Given the description of an element on the screen output the (x, y) to click on. 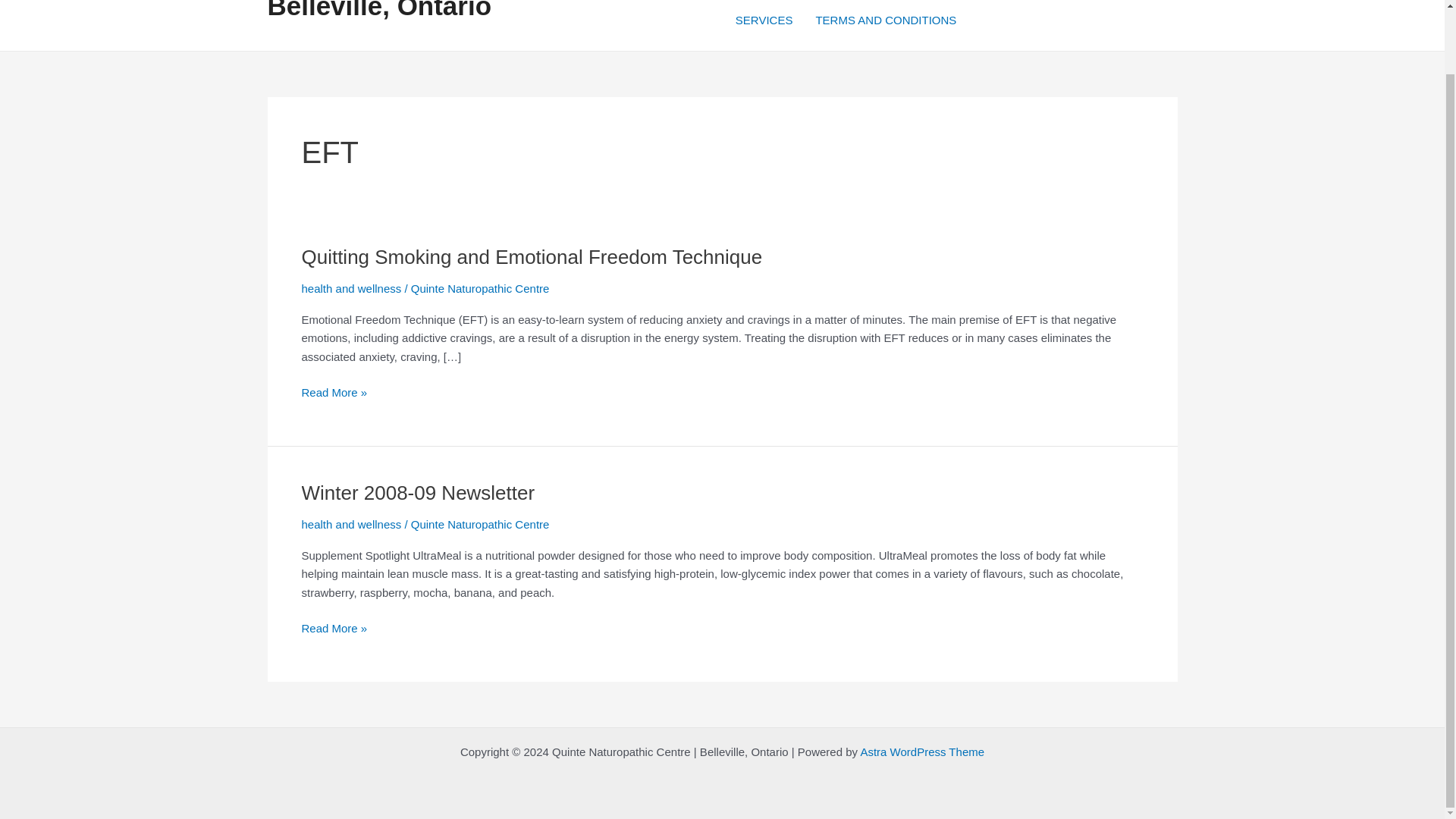
health and wellness (351, 523)
TERMS AND CONDITIONS (885, 25)
View all posts by Quinte Naturopathic Centre (480, 287)
Winter 2008-09 Newsletter (418, 492)
Quitting Smoking and Emotional Freedom Technique (531, 256)
Astra WordPress Theme (922, 751)
Quinte Naturopathic Centre (480, 523)
Quinte Naturopathic Centre (480, 287)
health and wellness (351, 287)
View all posts by Quinte Naturopathic Centre (480, 523)
SERVICES (764, 25)
